Given the description of an element on the screen output the (x, y) to click on. 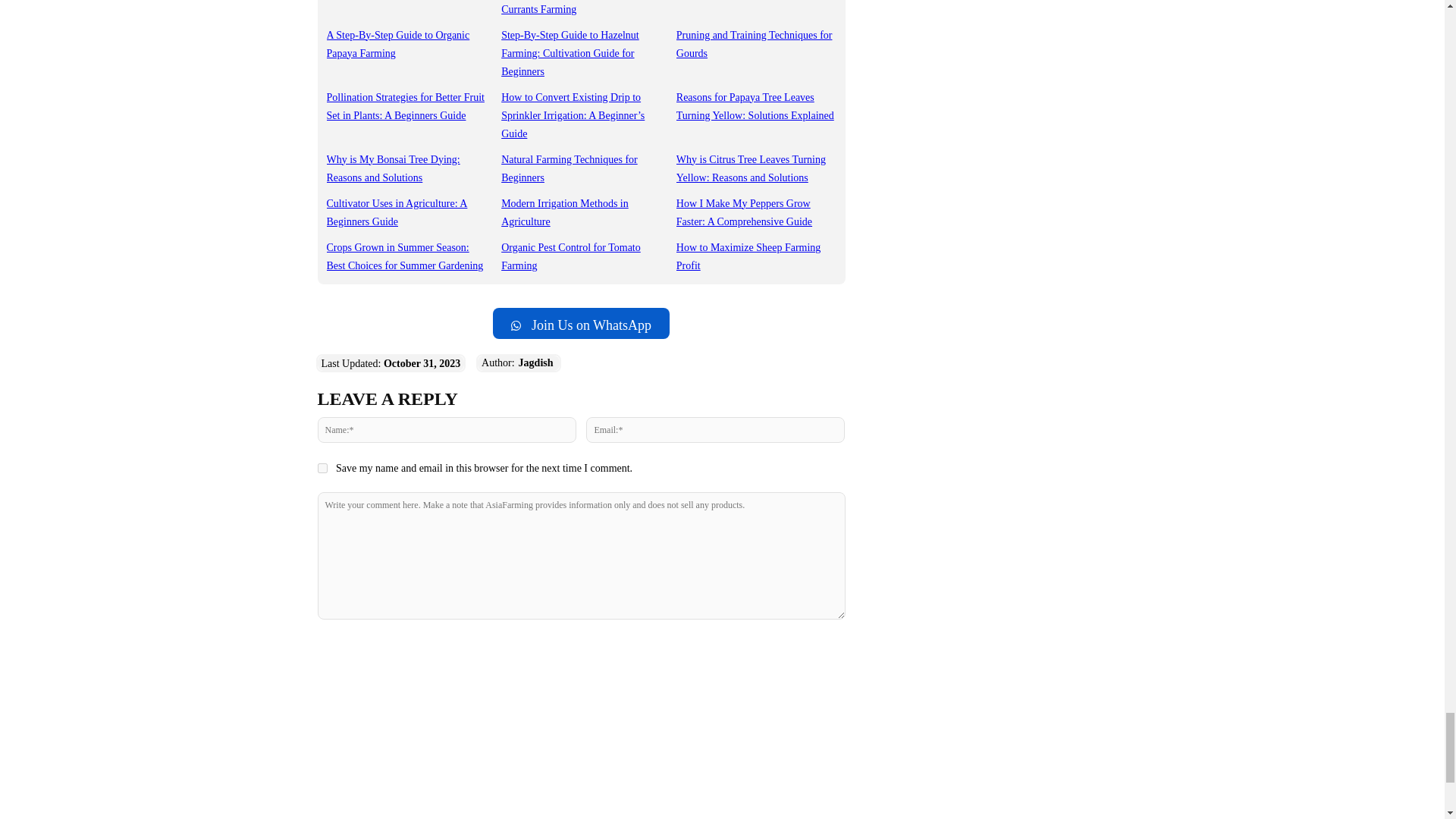
yes (321, 468)
Post Comment (581, 649)
Join Us on WhatsApp (581, 323)
